Given the description of an element on the screen output the (x, y) to click on. 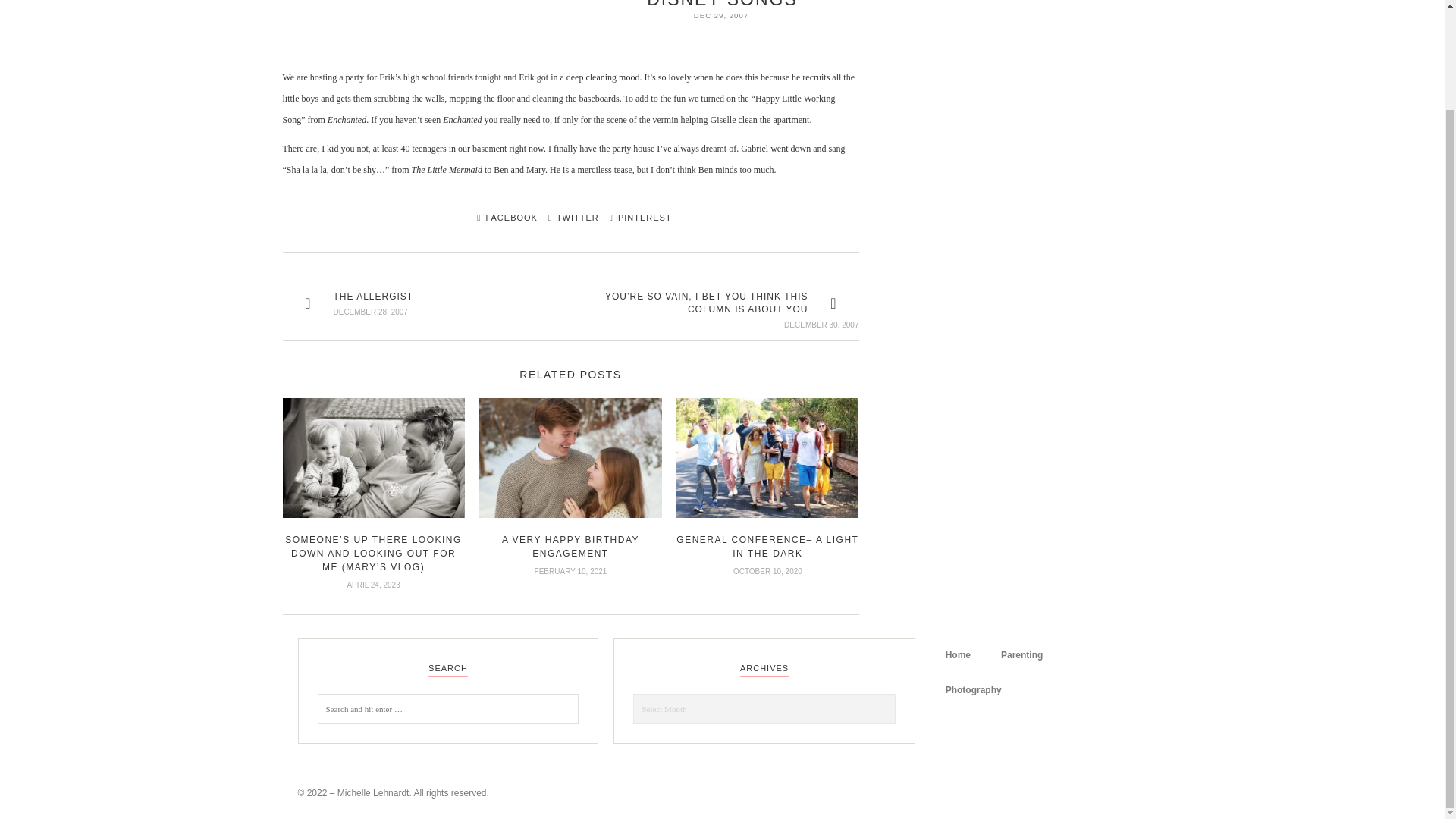
PINTEREST (636, 216)
A VERY HAPPY BIRTHDAY ENGAGEMENT (570, 546)
Parenting (1021, 655)
THE ALLERGIST (373, 296)
Home (957, 655)
FACEBOOK (502, 216)
TWITTER (569, 216)
Photography (973, 689)
